Given the description of an element on the screen output the (x, y) to click on. 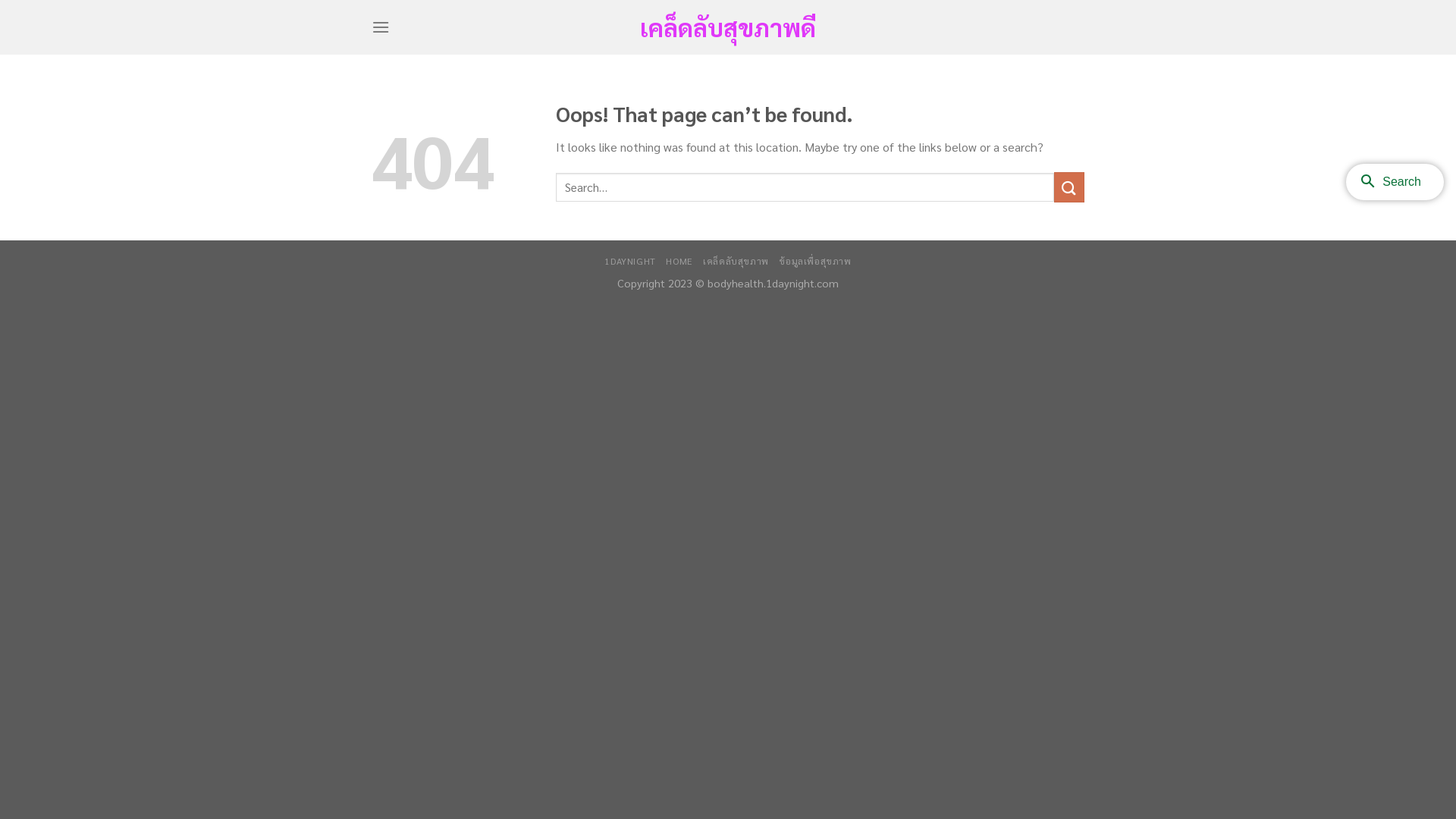
HOME Element type: text (678, 260)
bodyhealth.1daynight.com Element type: text (772, 282)
1DAYNIGHT Element type: text (629, 260)
Skip to content Element type: text (0, 0)
